Given the description of an element on the screen output the (x, y) to click on. 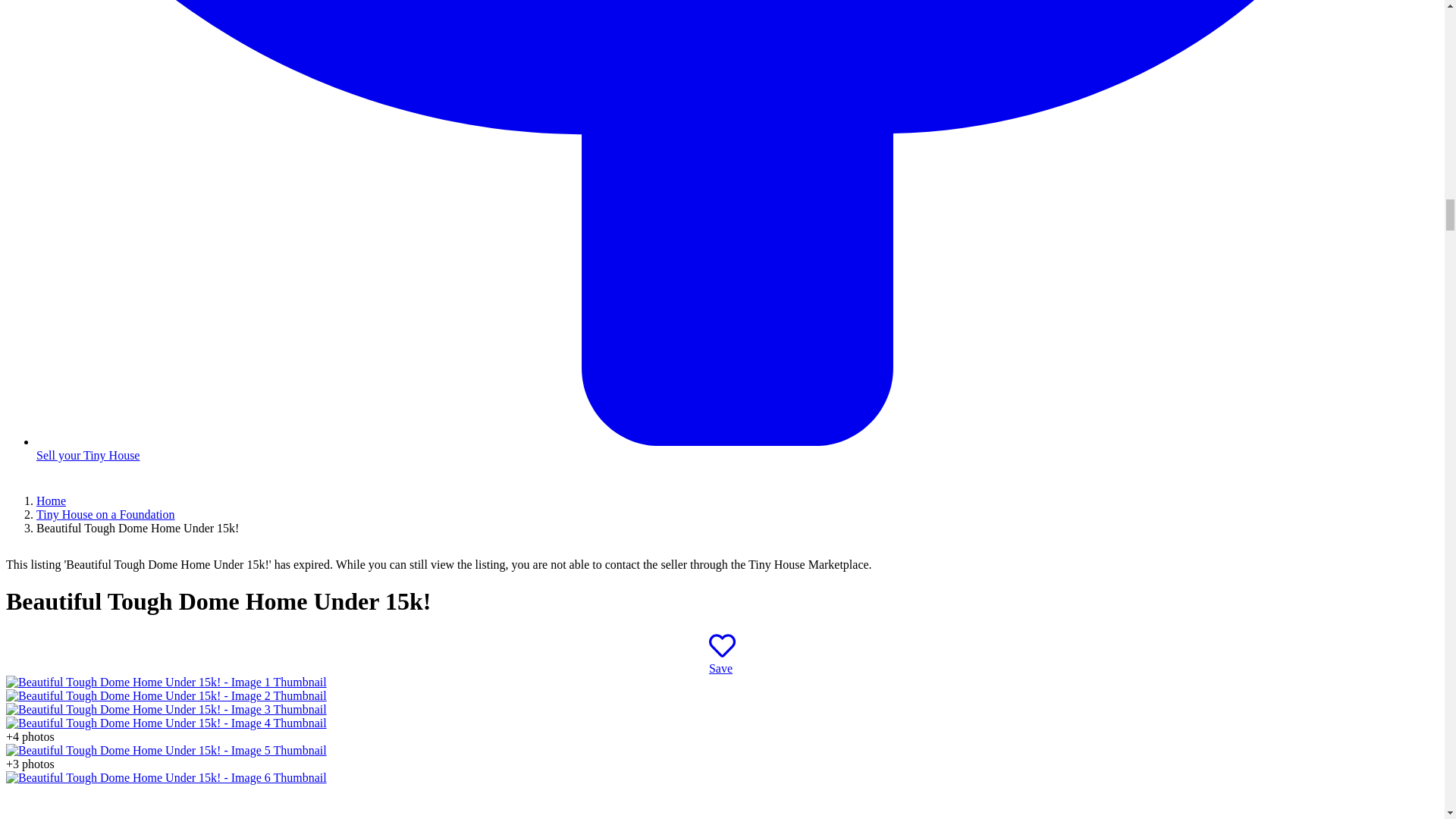
Beautiful Tough Dome Home Under 15k! (165, 695)
Beautiful Tough Dome Home Under 15k! (165, 708)
Save (722, 661)
Beautiful Tough Dome Home Under 15k! (165, 722)
Home (50, 500)
Beautiful Tough Dome Home Under 15k! (165, 749)
Beautiful Tough Dome Home Under 15k! (165, 681)
Tiny House on a Foundation (105, 513)
Beautiful Tough Dome Home Under 15k! (165, 777)
